Given the description of an element on the screen output the (x, y) to click on. 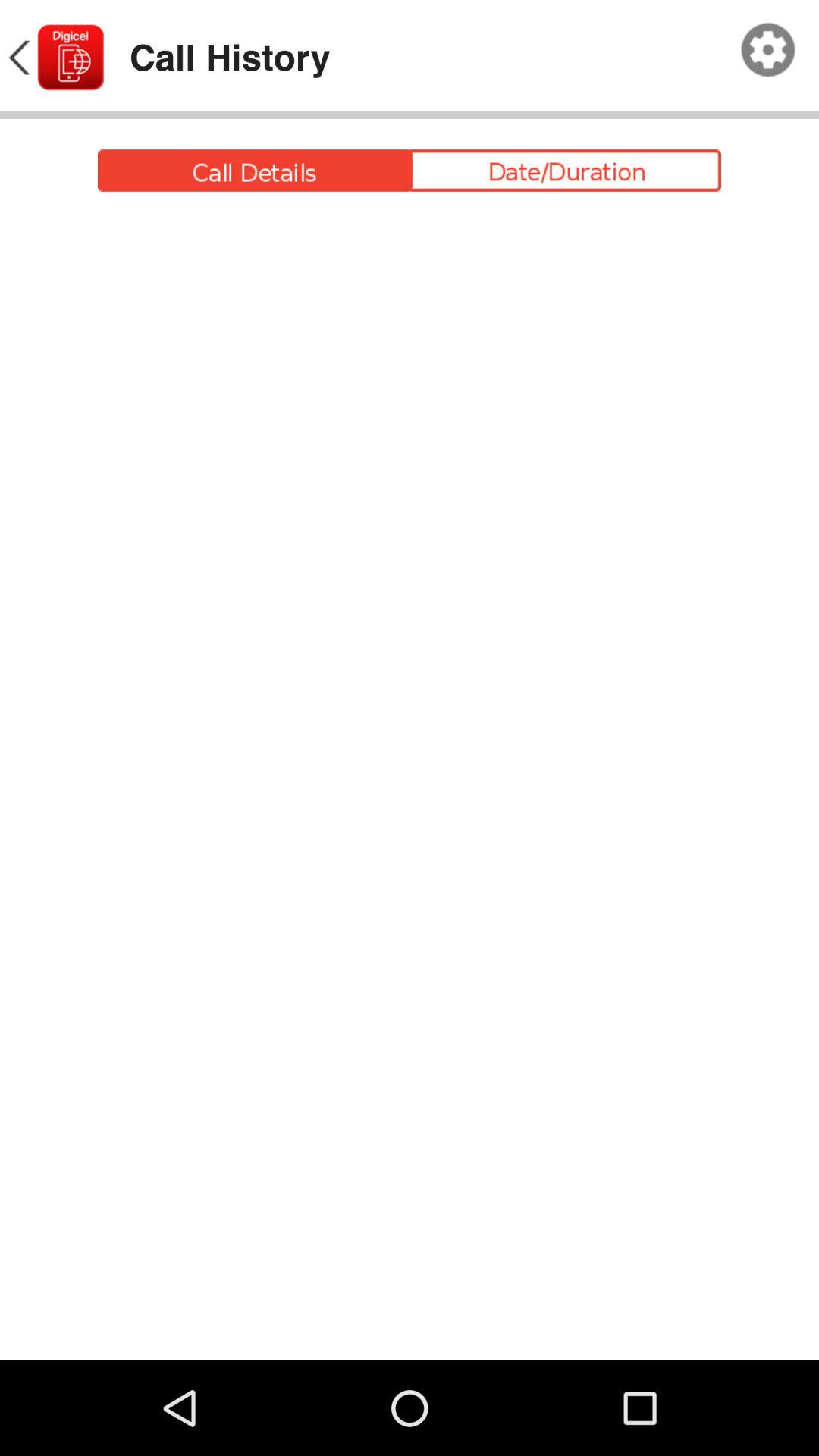
return to previous screen (54, 57)
